Given the description of an element on the screen output the (x, y) to click on. 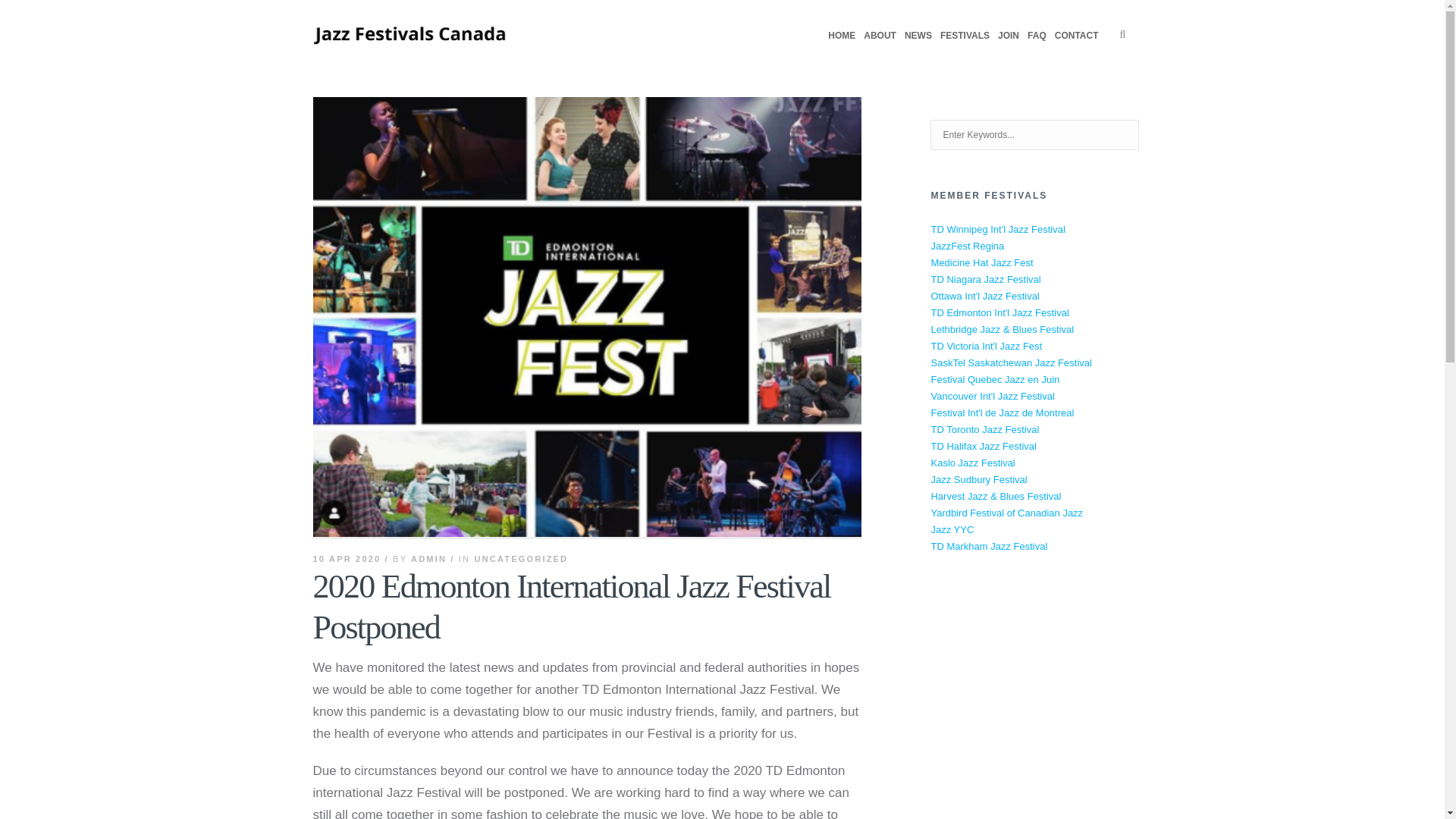
FESTIVALS (970, 35)
JazzFest Regina (967, 245)
Ottawa Int'l Jazz Festival (984, 296)
Festival Quebec Jazz en Juin (994, 378)
Jazz YYC (952, 529)
About (884, 35)
SaskTel Saskatchewan Jazz Festival (1010, 362)
TD Niagara Jazz Festival (985, 279)
ABOUT (884, 35)
TD Markham Jazz Festival (988, 546)
